Given the description of an element on the screen output the (x, y) to click on. 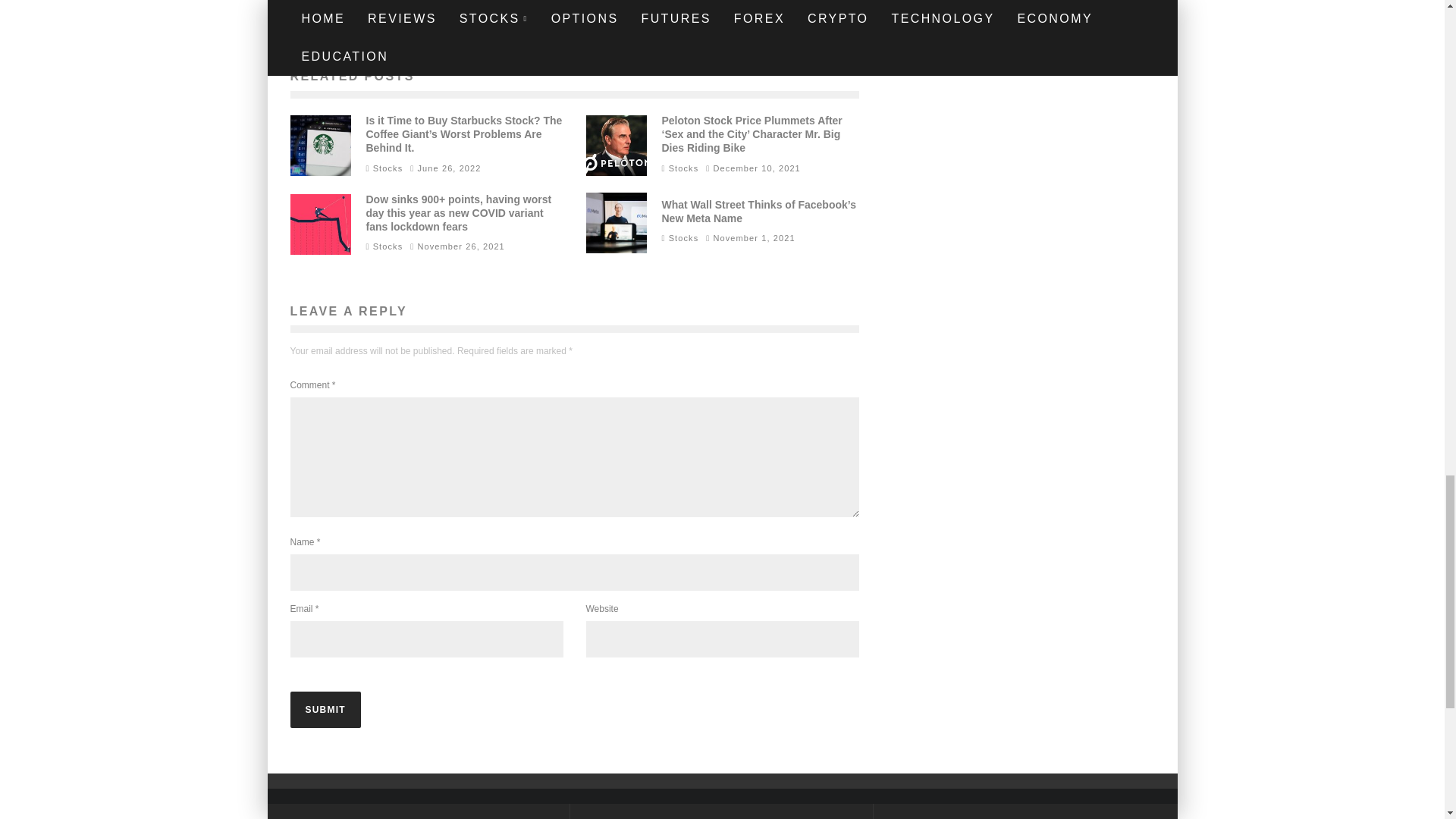
Submit (324, 709)
